Given the description of an element on the screen output the (x, y) to click on. 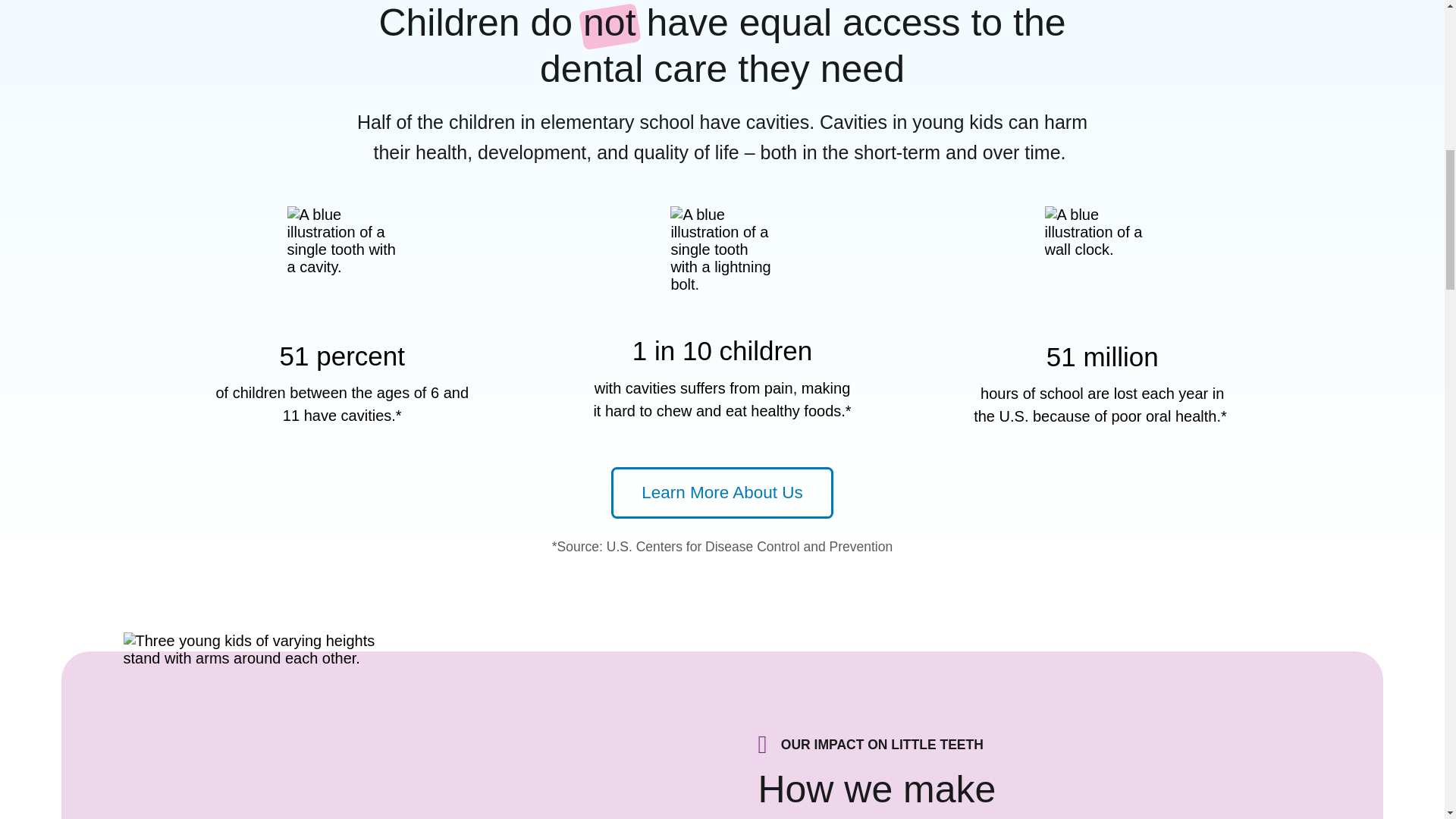
Learn More About Us (722, 492)
